Given the description of an element on the screen output the (x, y) to click on. 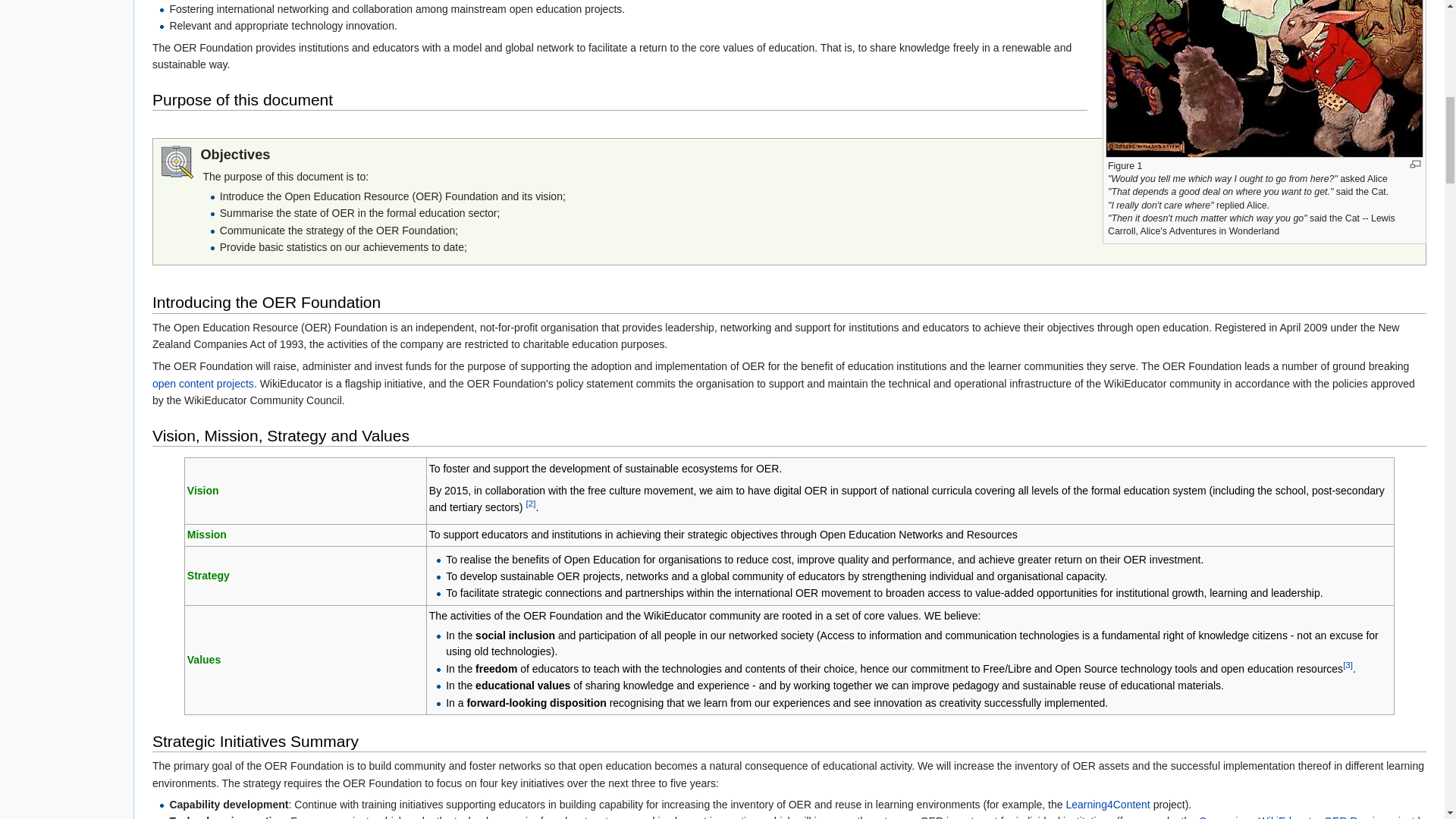
Learning4Content (1107, 804)
OERF:Projects (202, 383)
Enlarge (1415, 163)
CNX-WE (1306, 816)
Connexions-WikiEducator OER Remix project (1306, 816)
open content projects (202, 383)
Learning4Content (1107, 804)
